Given the description of an element on the screen output the (x, y) to click on. 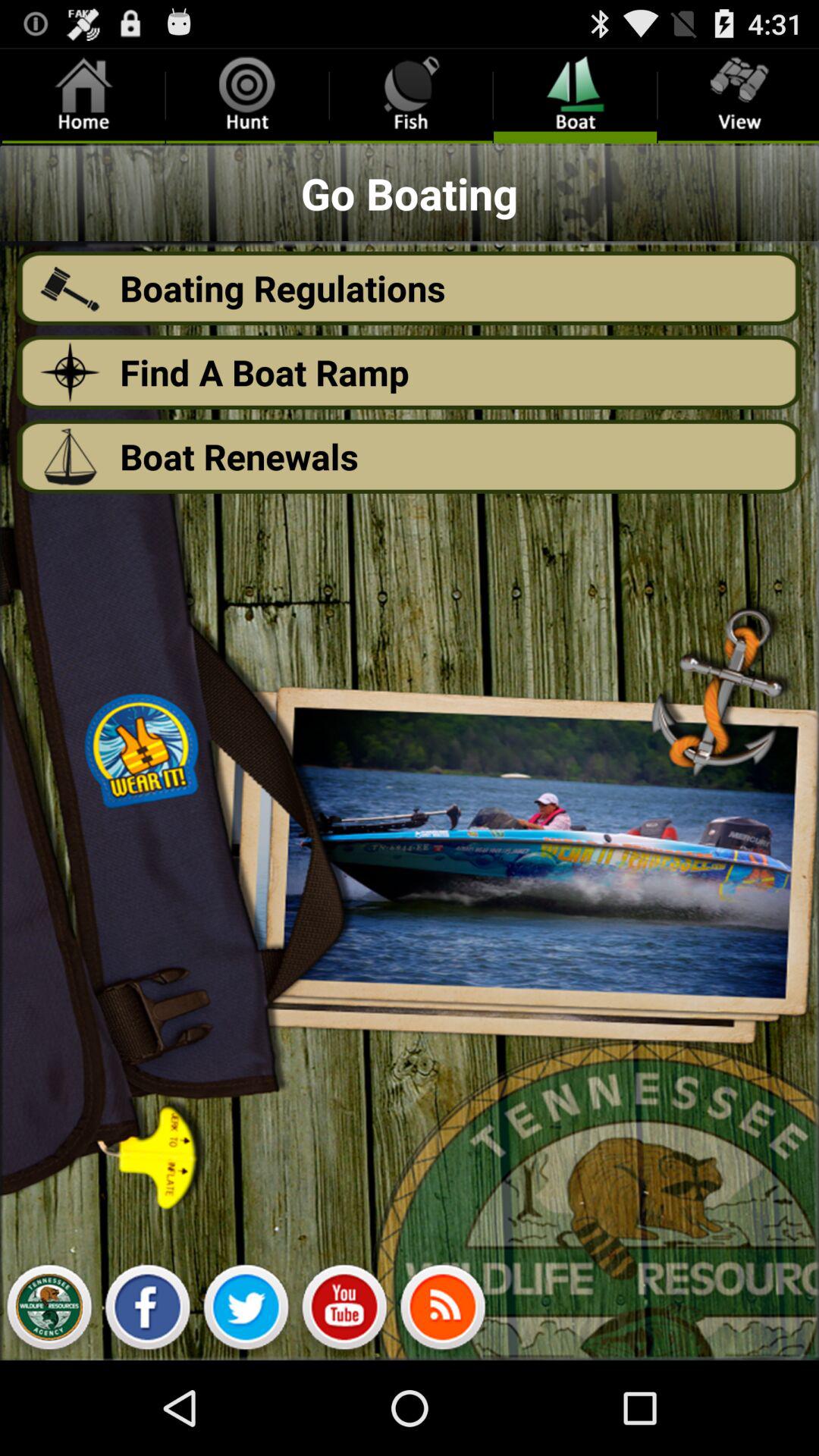
wifi user (442, 1311)
